Given the description of an element on the screen output the (x, y) to click on. 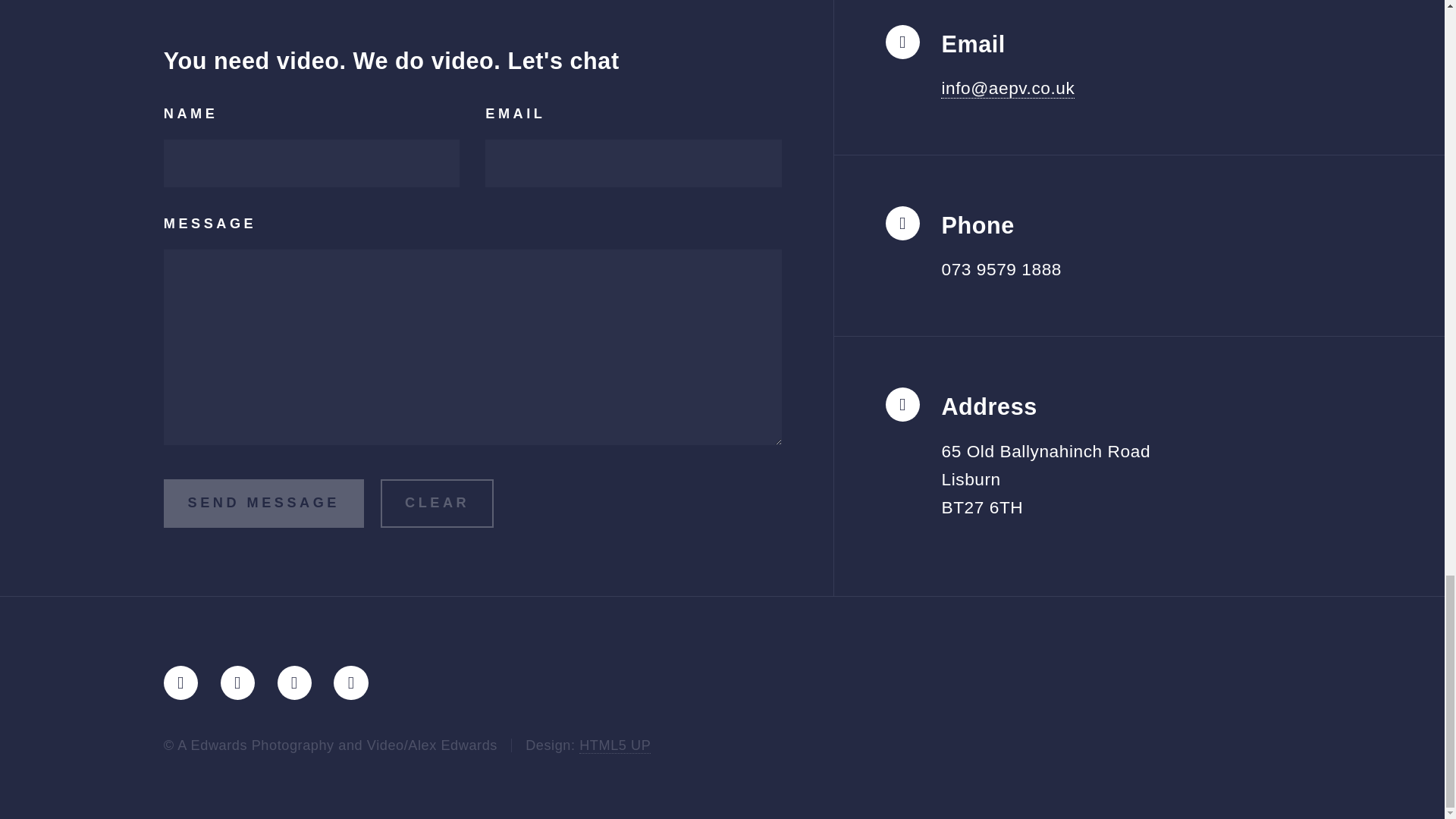
HTML5 UP (614, 745)
Send Message (263, 503)
Send Message (263, 503)
Clear (436, 503)
